Given the description of an element on the screen output the (x, y) to click on. 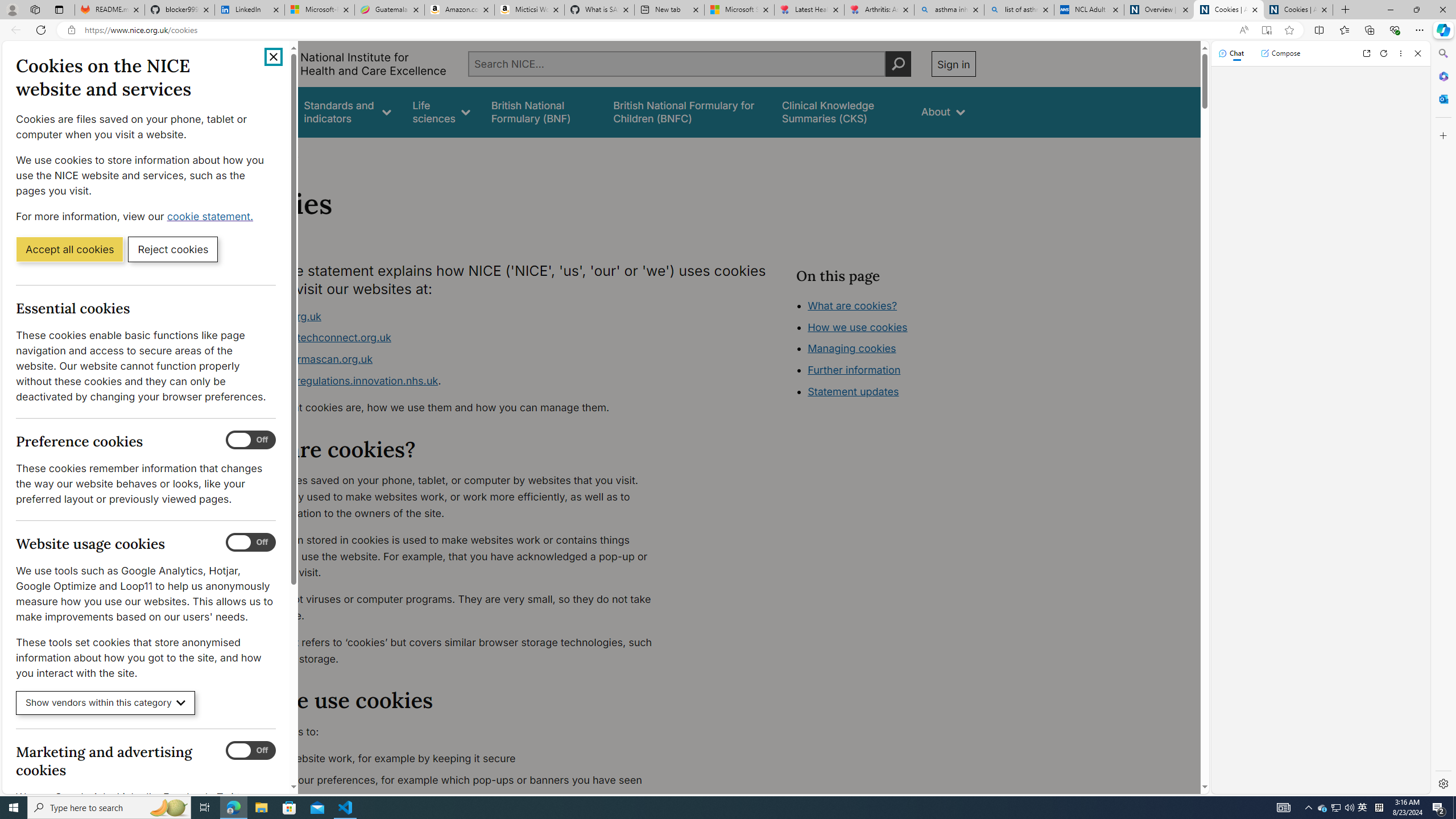
www.nice.org.uk (452, 316)
LinkedIn (249, 9)
www.ukpharmascan.org.uk (305, 359)
How we use cookies (857, 327)
www.digitalregulations.innovation.nhs.uk. (452, 380)
Managing cookies (852, 348)
Reject cookies (173, 248)
Close cookie banner (273, 56)
